Given the description of an element on the screen output the (x, y) to click on. 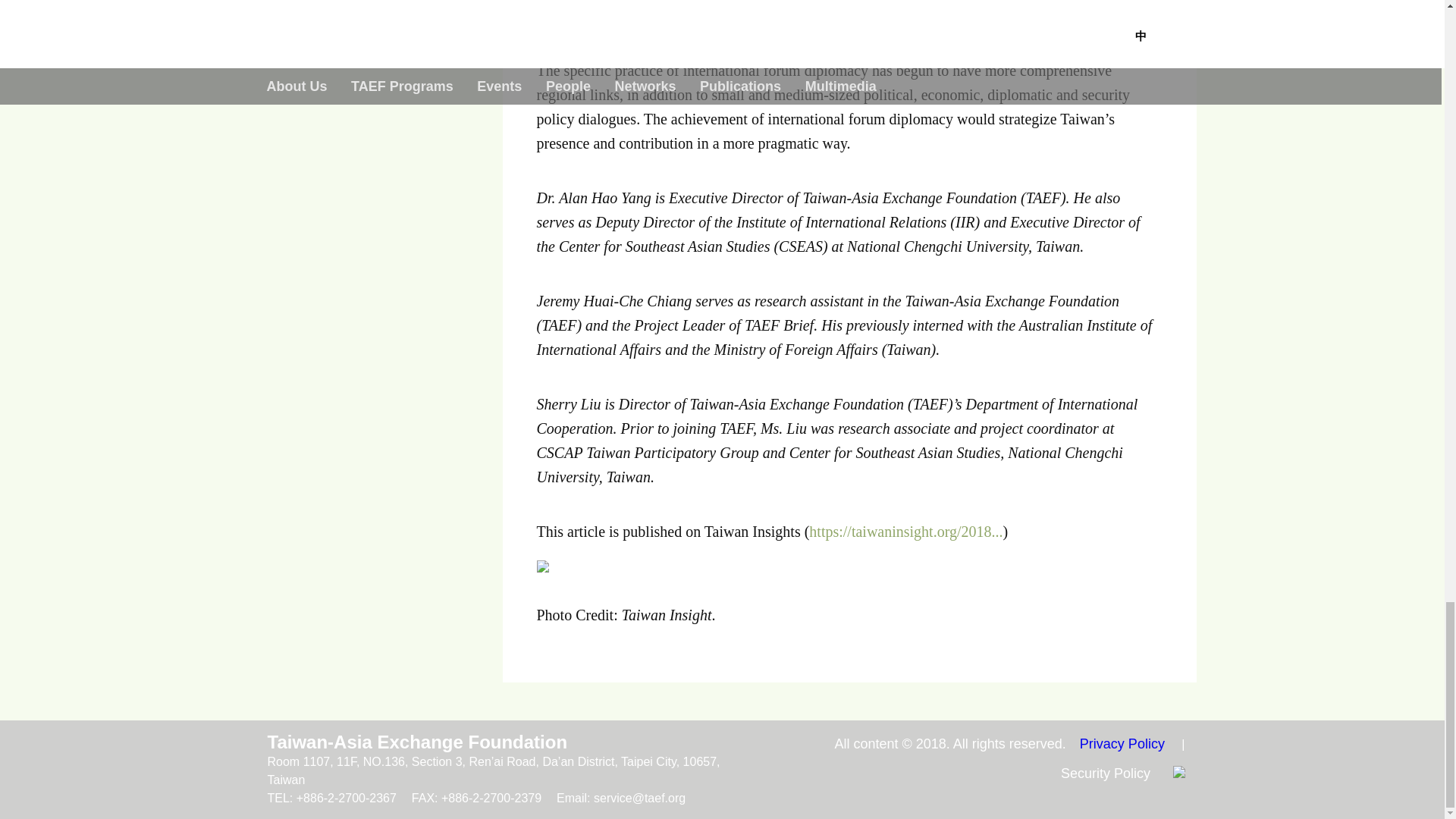
Privacy Policy (1122, 743)
